Given the description of an element on the screen output the (x, y) to click on. 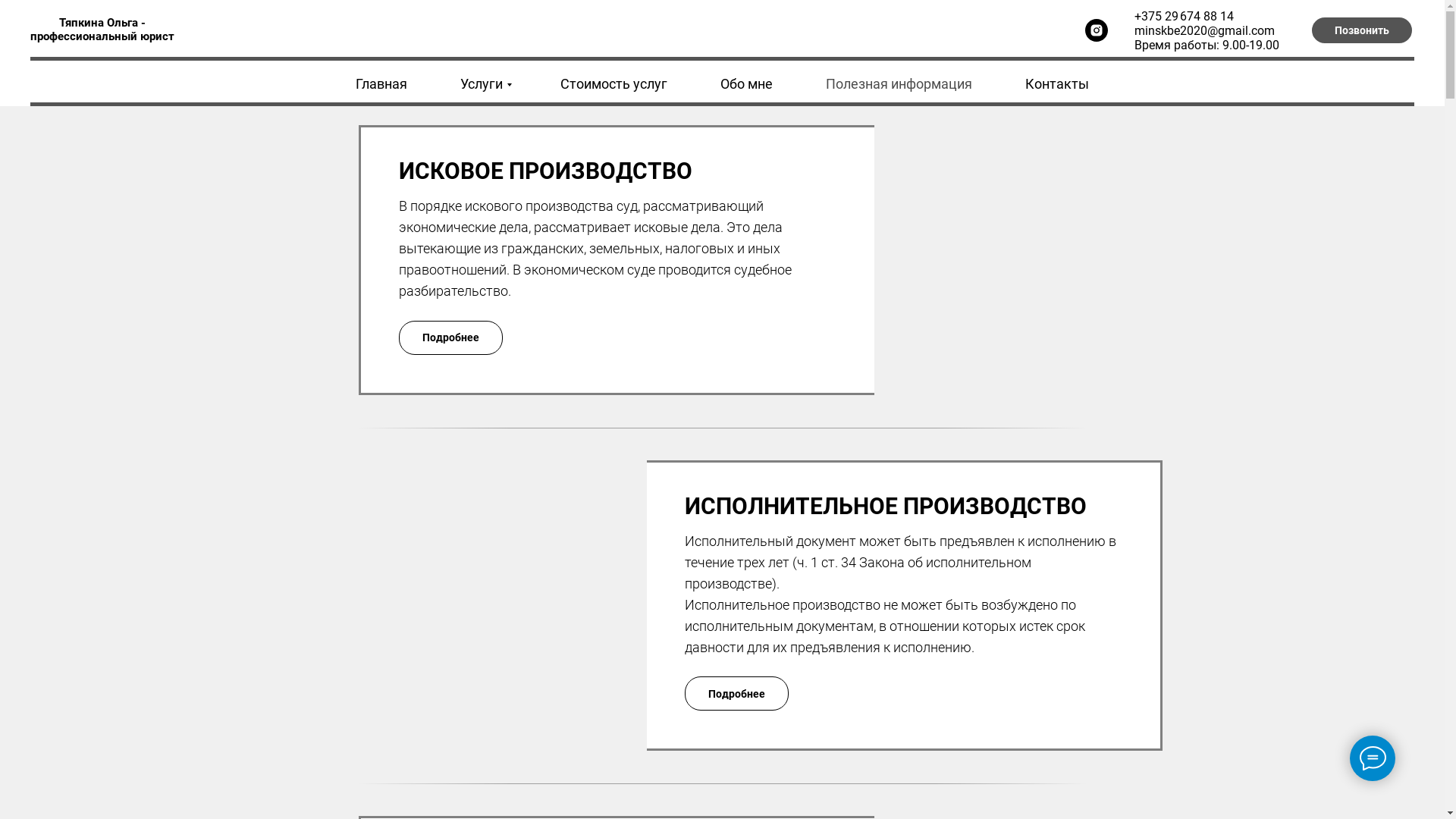
minskbe2020@gmail.com Element type: text (1204, 29)
